Given the description of an element on the screen output the (x, y) to click on. 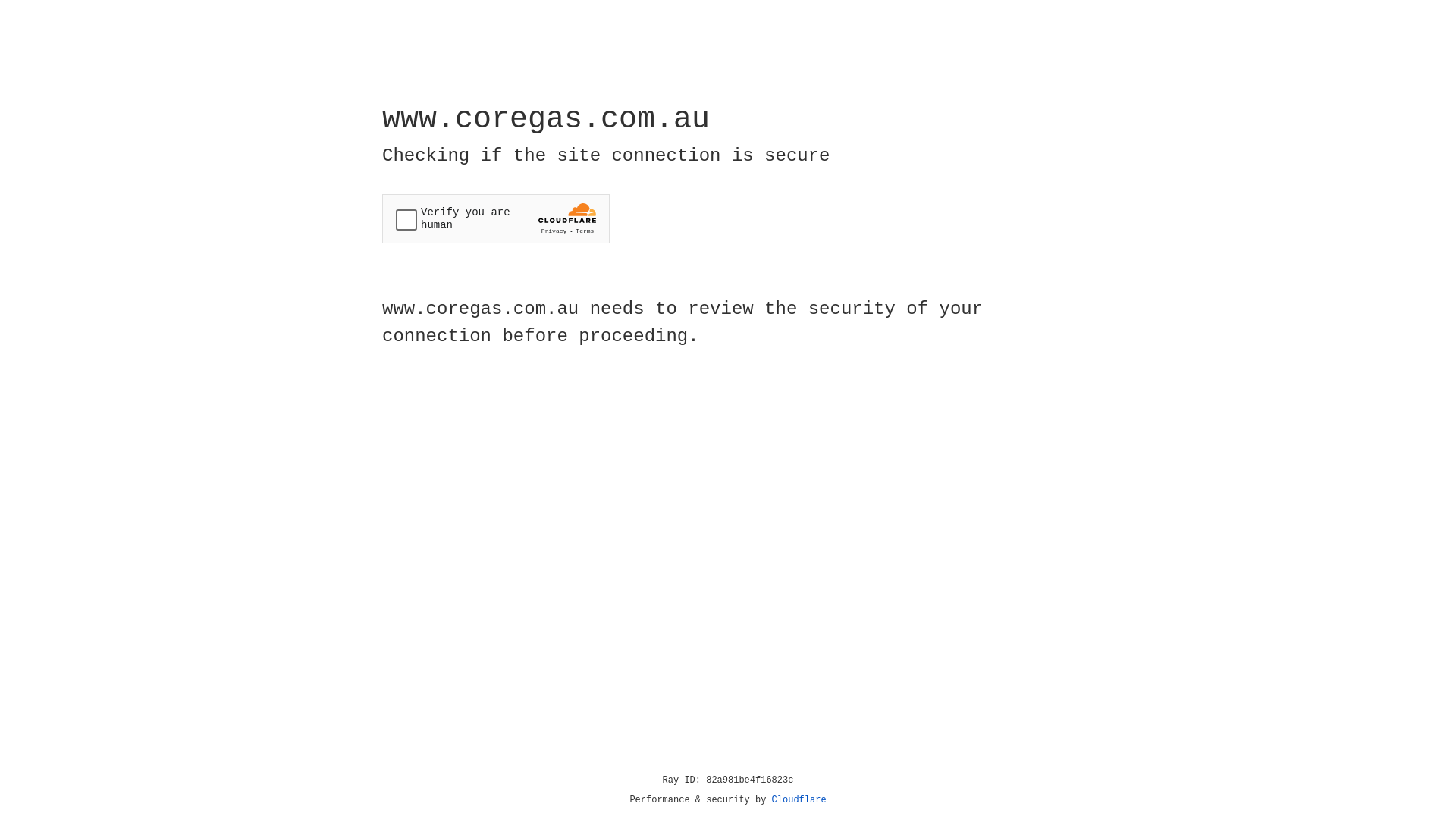
Widget containing a Cloudflare security challenge Element type: hover (495, 218)
Cloudflare Element type: text (798, 799)
